Given the description of an element on the screen output the (x, y) to click on. 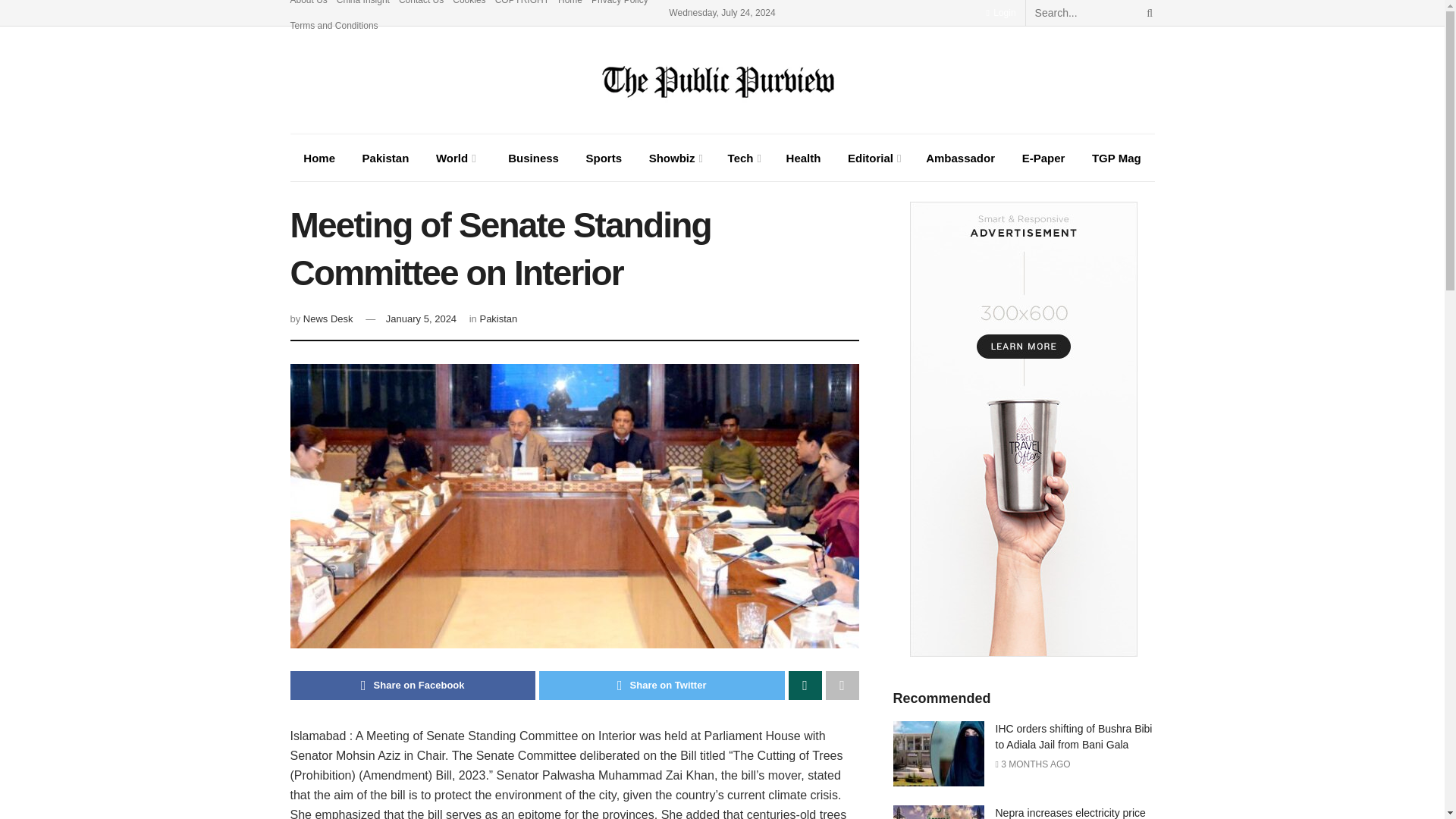
Pakistan (385, 157)
Business (529, 157)
Home (318, 157)
Home (569, 6)
Cookies (468, 6)
World (454, 157)
COPYRIGHT (521, 6)
Login (999, 12)
Showbiz (674, 157)
China Insight (363, 6)
Privacy Policy (619, 6)
Contact Us (421, 6)
Sports (603, 157)
Tech (743, 157)
Terms and Conditions (333, 25)
